Given the description of an element on the screen output the (x, y) to click on. 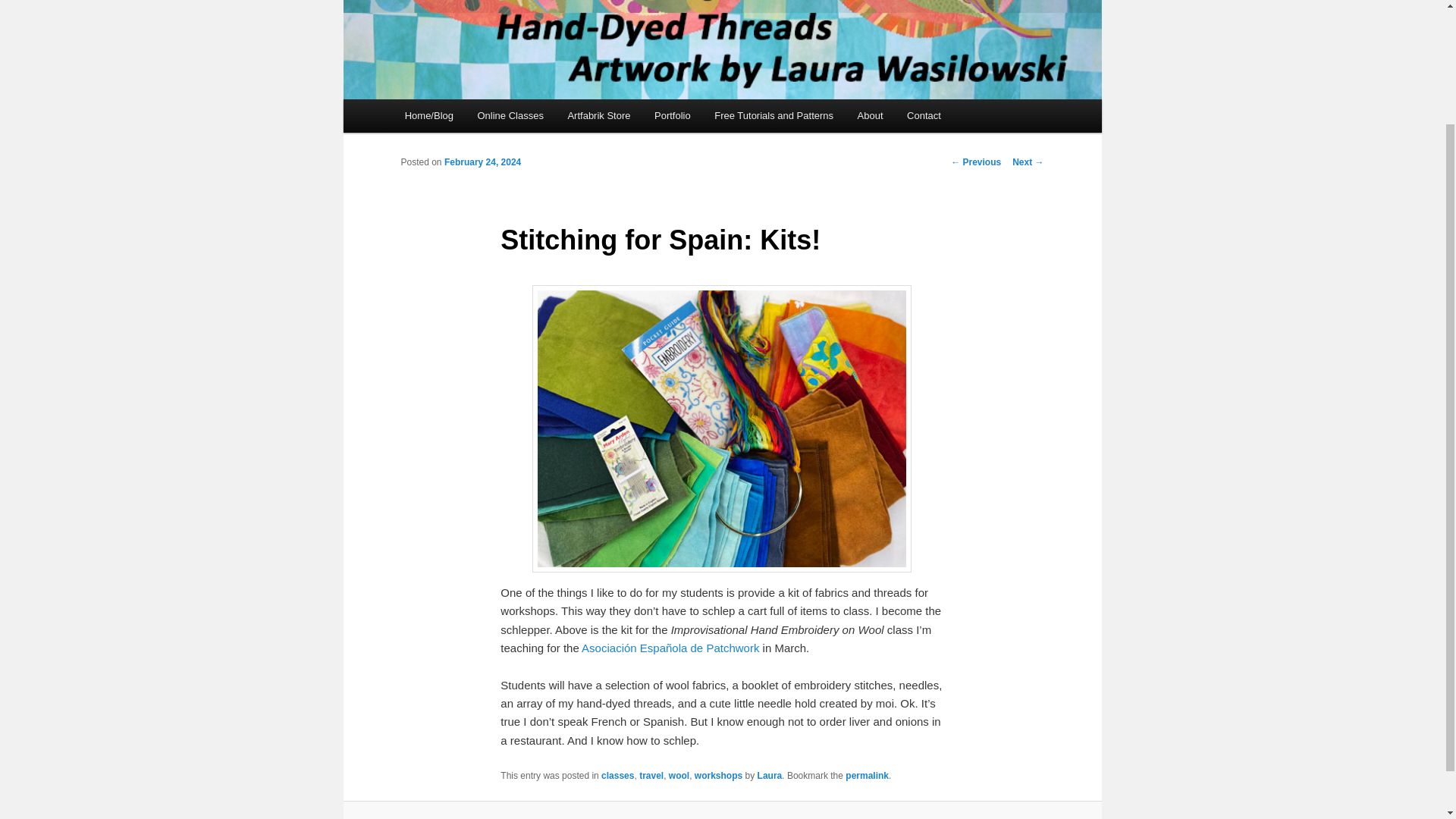
Laura (770, 775)
Permalink to Stitching for Spain: Kits! (866, 775)
Online Classes (510, 115)
workshops (718, 775)
classes (617, 775)
Artfabrik Store (599, 115)
7:08 am (482, 162)
Portfolio (671, 115)
permalink (866, 775)
